Given the description of an element on the screen output the (x, y) to click on. 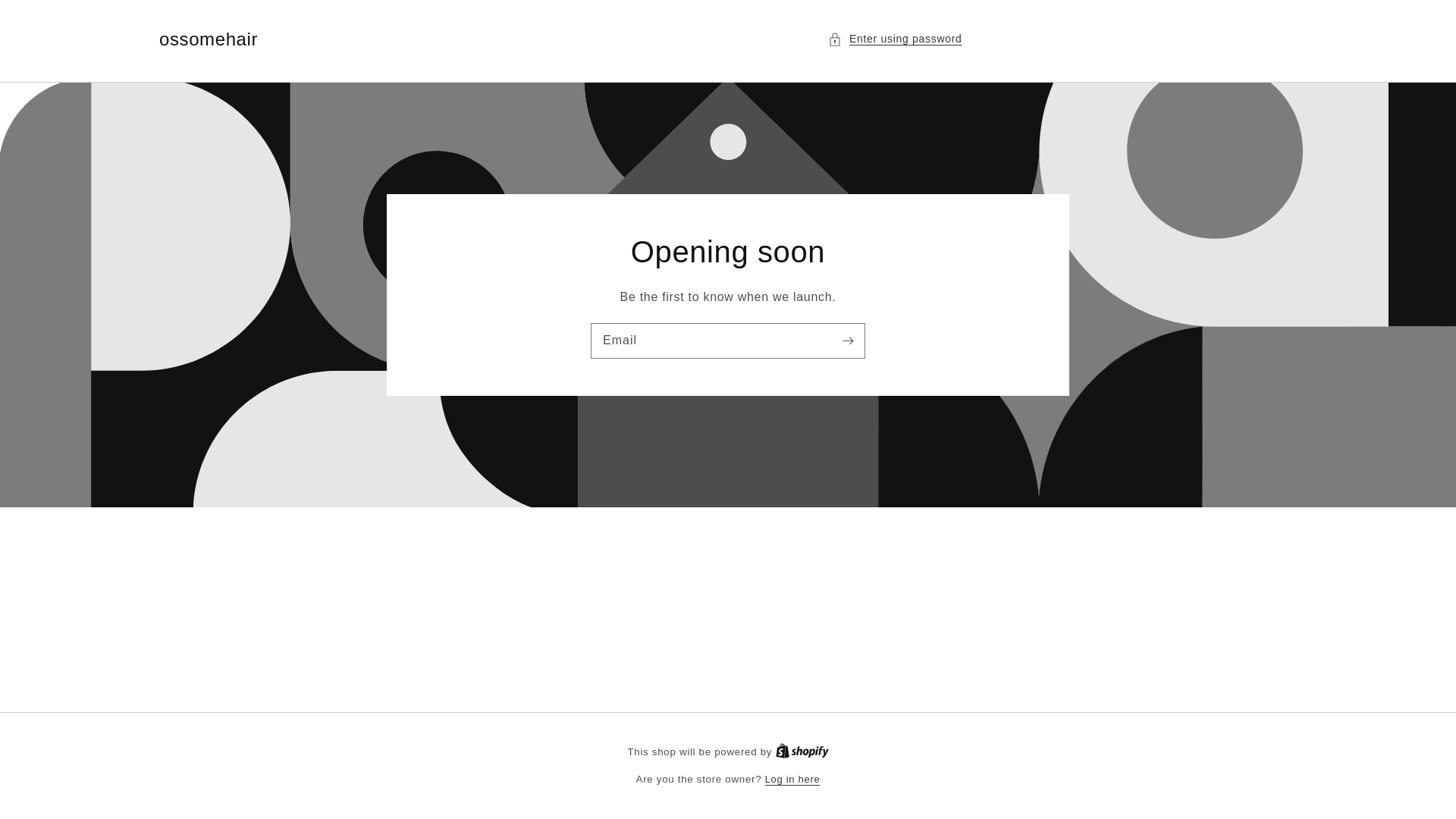
Create your own online store with Shopify (802, 751)
Skip to content (45, 16)
Log in here (793, 779)
Shopify logo (802, 750)
